Given the description of an element on the screen output the (x, y) to click on. 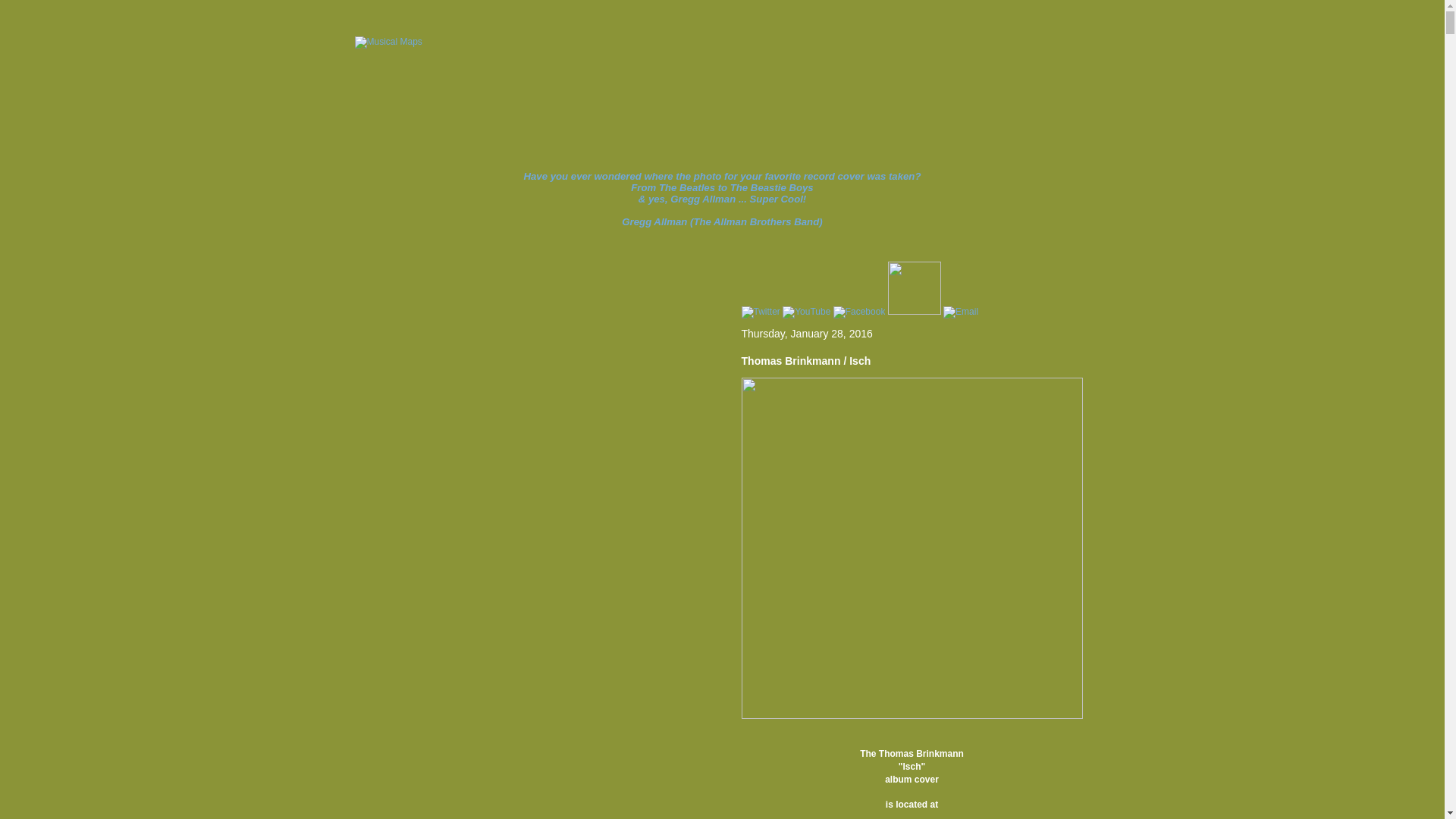
Instagram Element type: hover (914, 311)
Twitter Element type: hover (760, 311)
Email Element type: hover (960, 311)
Facebook Element type: hover (859, 311)
YouTube Element type: hover (806, 311)
